Given the description of an element on the screen output the (x, y) to click on. 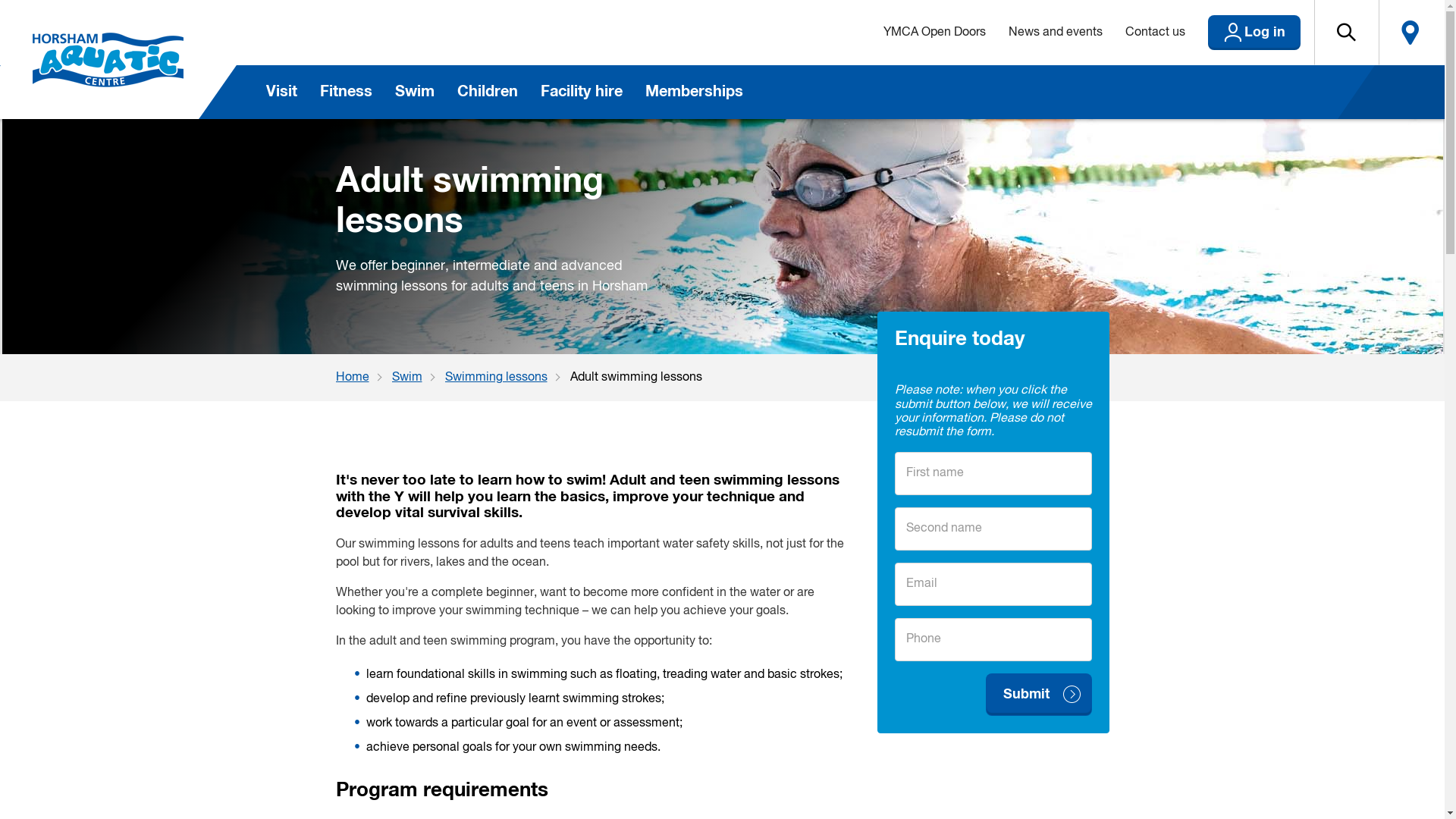
Contact us Element type: text (1154, 32)
Children Element type: text (487, 92)
Memberships Element type: text (693, 92)
Visit Element type: text (281, 92)
Swim Element type: text (414, 92)
Fitness Element type: text (344, 92)
Submit Element type: text (1038, 694)
Log in Element type: text (1253, 32)
Home Element type: text (363, 377)
Locate Element type: text (1410, 32)
Swimming lessons Element type: text (506, 377)
YMCA Open Doors Element type: text (934, 32)
Swim Element type: text (417, 377)
News and events Element type: text (1054, 32)
Facility hire Element type: text (581, 92)
